Given the description of an element on the screen output the (x, y) to click on. 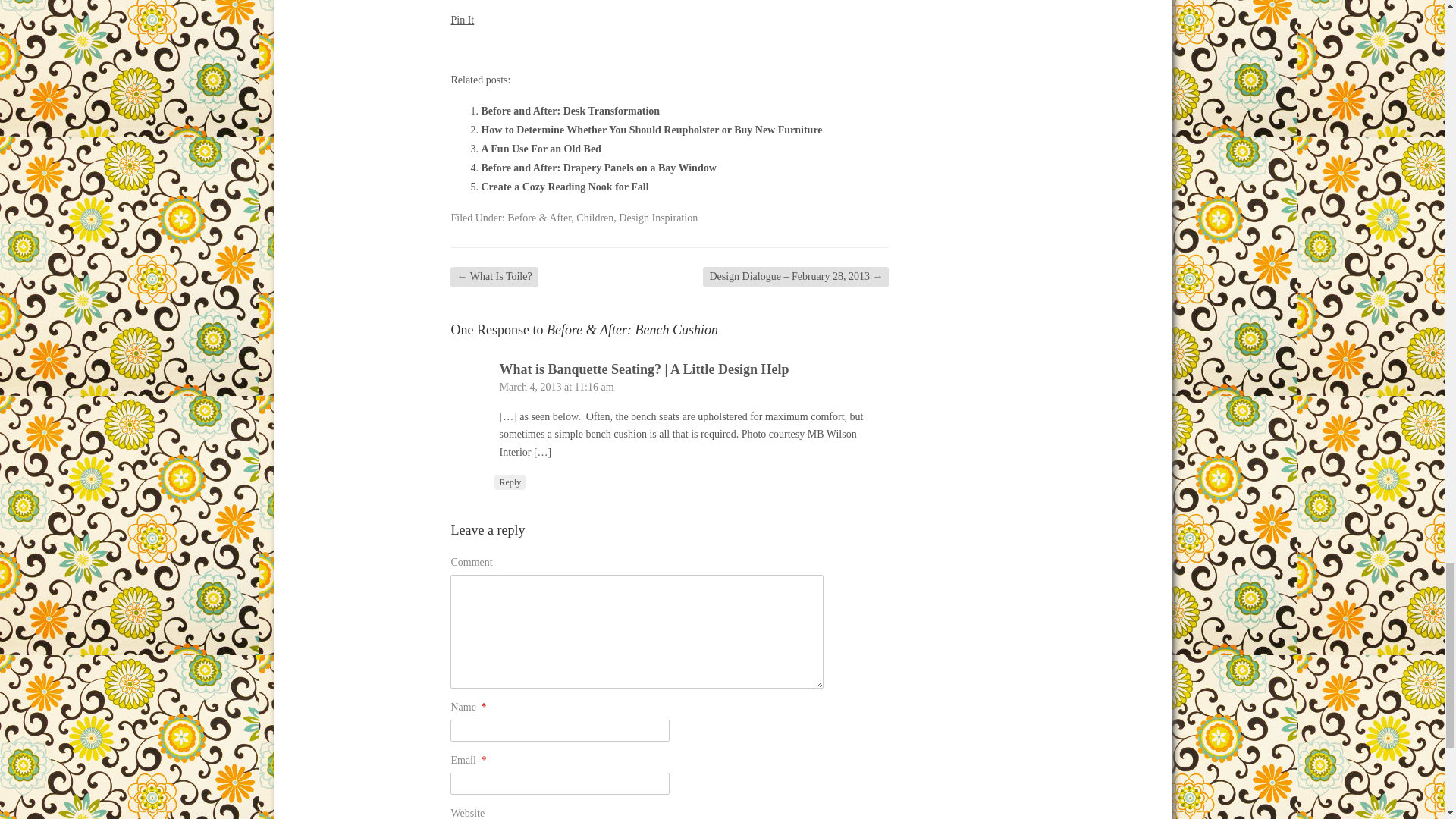
Pin It (461, 19)
